Given the description of an element on the screen output the (x, y) to click on. 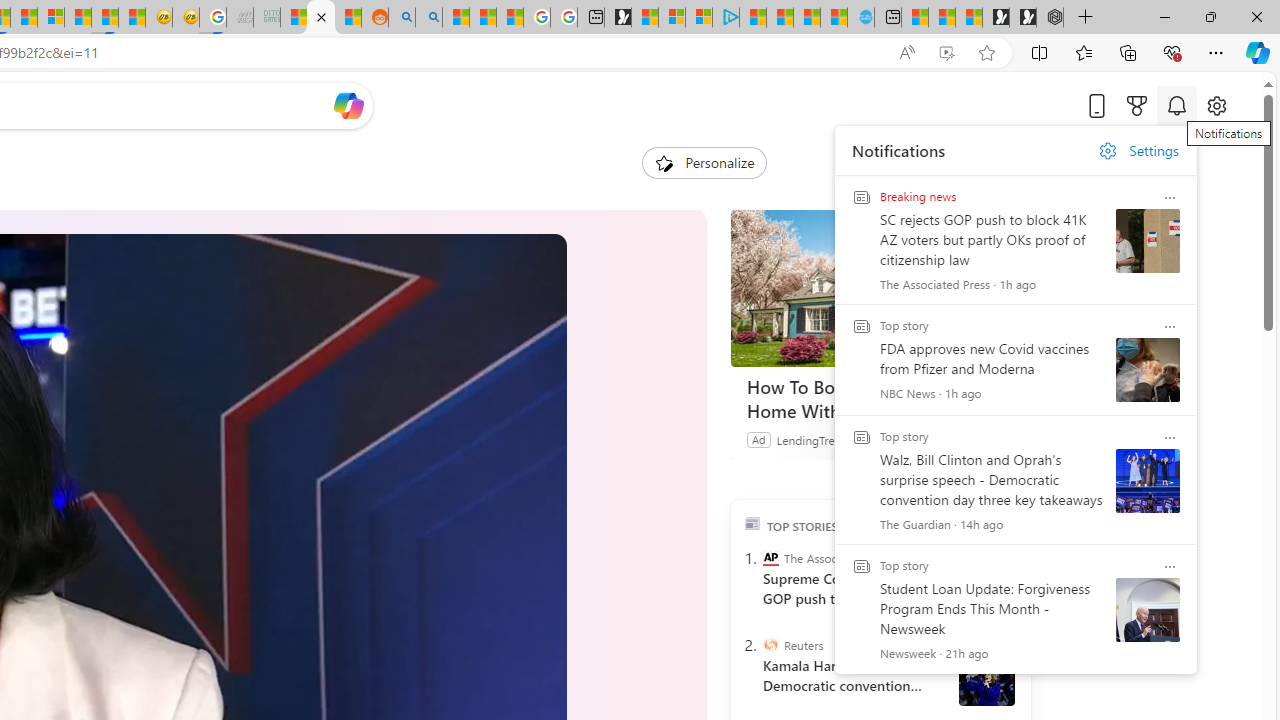
MSN (104, 17)
Card Action (1169, 566)
Enhance video (946, 53)
DITOGAMES AG Imprint - Sleeping (266, 17)
Microsoft rewards (1137, 105)
